Given the description of an element on the screen output the (x, y) to click on. 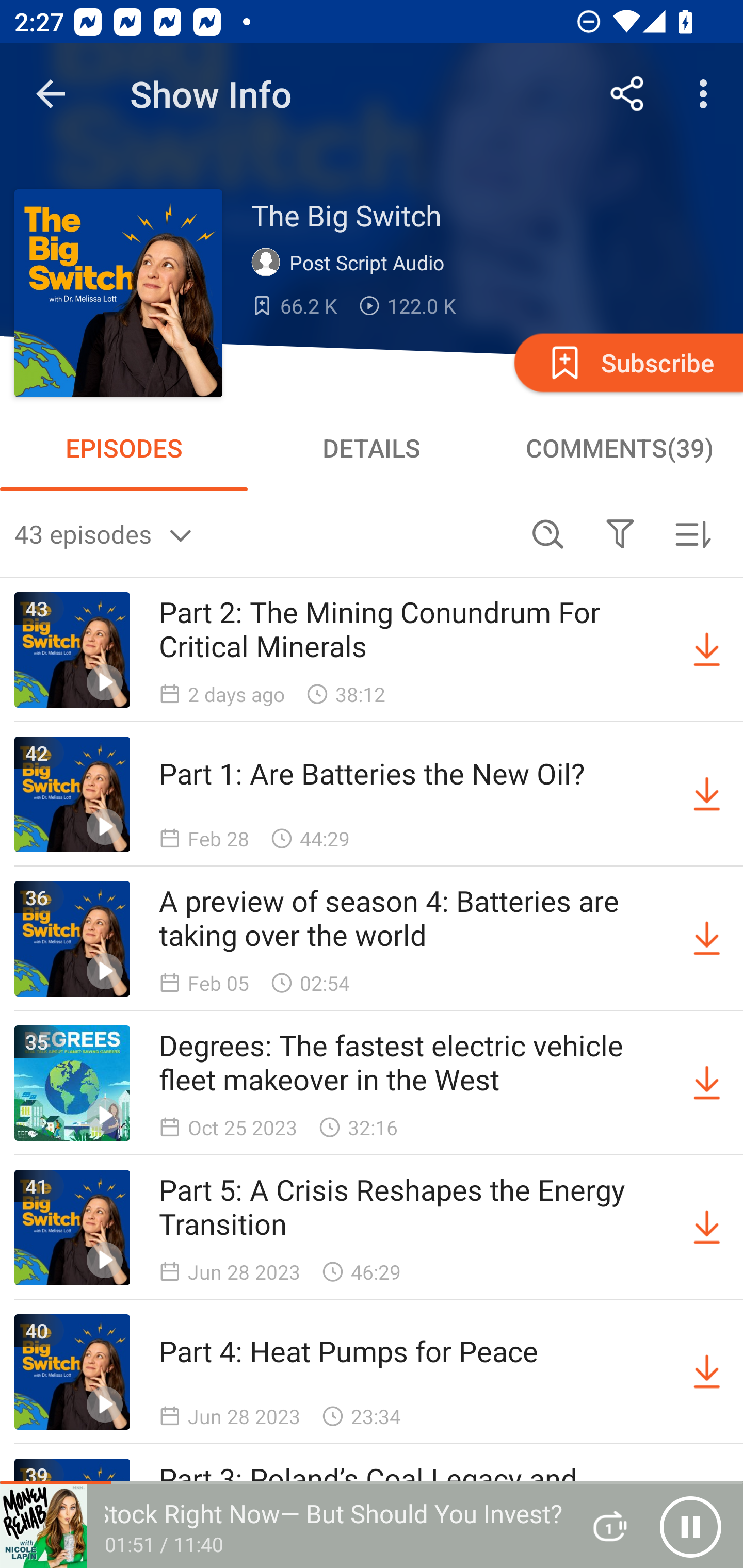
Navigate up (50, 93)
Share (626, 93)
More options (706, 93)
Post Script Audio (352, 262)
Subscribe (627, 361)
EPISODES (123, 447)
DETAILS (371, 447)
COMMENTS(39) (619, 447)
43 episodes  (262, 533)
 Search (547, 533)
 (619, 533)
 Sorted by newest first (692, 533)
Download (706, 649)
Download (706, 793)
Download (706, 939)
Download (706, 1083)
Download (706, 1227)
Download (706, 1371)
Pause (690, 1526)
